Given the description of an element on the screen output the (x, y) to click on. 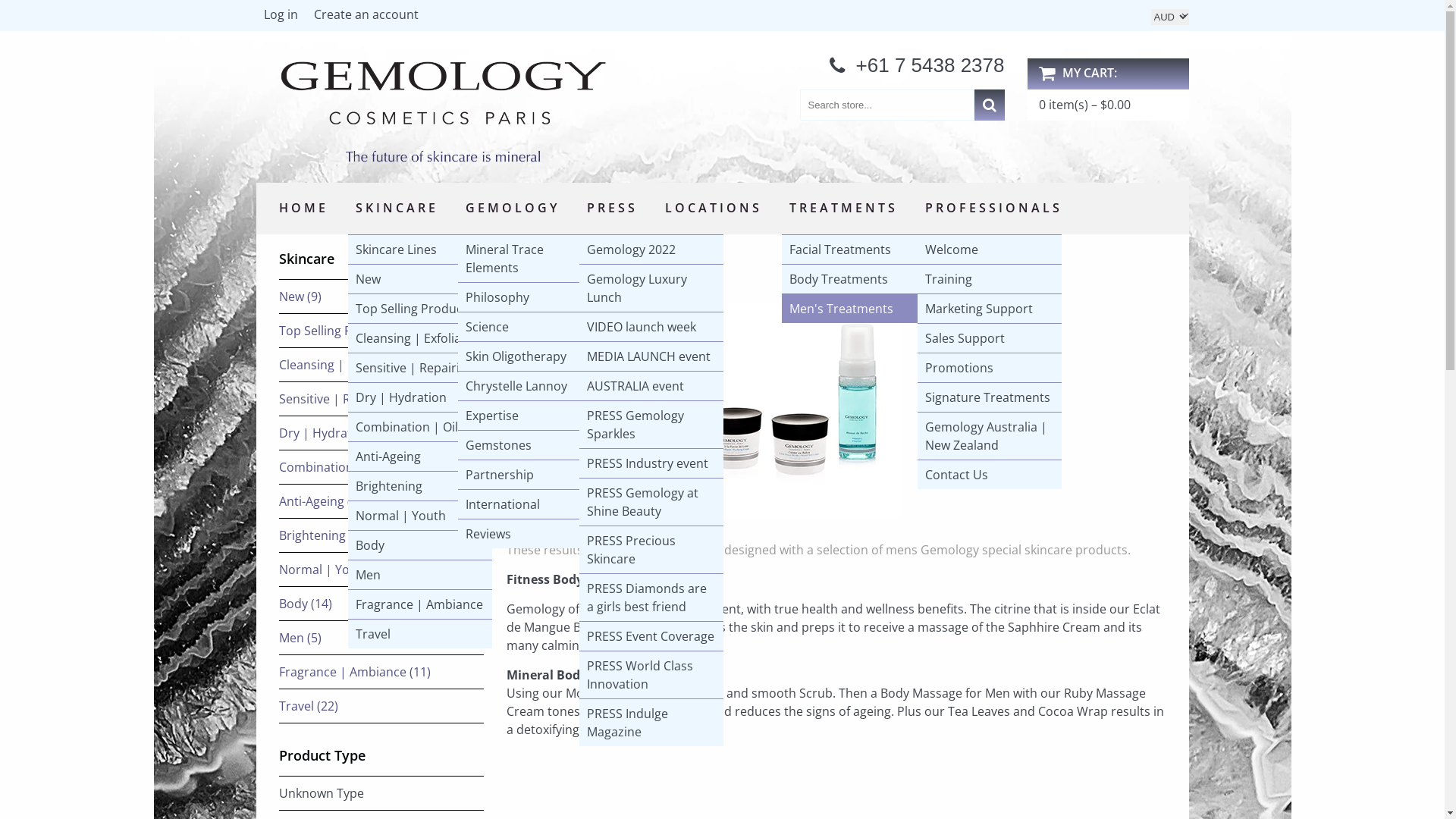
Marketing Support Element type: text (989, 308)
New (9) Element type: text (300, 296)
Top Selling Products Element type: text (419, 308)
Men's Treatments Element type: text (853, 308)
Anti-Ageing Element type: text (419, 456)
Body (14) Element type: text (305, 603)
Dry | Hydration (15) Element type: text (336, 432)
MEDIA LAUNCH event Element type: text (651, 356)
Training Element type: text (989, 278)
PRESS Indulge Magazine Element type: text (651, 722)
Combination | Oily Element type: text (419, 426)
Reviews Element type: text (530, 533)
S K I N C A R E Element type: text (394, 208)
Skin Oligotherapy Element type: text (530, 356)
Sales Support Element type: text (989, 337)
T R E A T M E N T S Element type: text (841, 208)
Signature Treatments Element type: text (989, 396)
Gemstones Element type: text (530, 444)
Expertise Element type: text (530, 415)
Body Treatments Element type: text (853, 278)
PRESS Event Coverage Element type: text (651, 635)
Top Selling Products (17) Element type: text (349, 330)
Welcome Element type: text (989, 249)
Philosophy Element type: text (530, 296)
Brightening Element type: text (419, 485)
AUSTRALIA event Element type: text (651, 385)
Log in Element type: text (280, 17)
Fragrance | Ambiance Element type: text (419, 603)
PRESS Gemology Sparkles Element type: text (651, 424)
Cleansing | Exfoliation (8) Element type: text (351, 364)
Men (5) Element type: text (300, 637)
VIDEO launch week Element type: text (651, 326)
Normal | Youth Element type: text (419, 515)
P R E S S Element type: text (610, 208)
PRESS Diamonds are a girls best friend Element type: text (651, 597)
PRESS World Class Innovation Element type: text (651, 674)
PRESS Precious Skincare Element type: text (651, 549)
L O C A T I O N S Element type: text (710, 208)
Anti-Ageing (13) Element type: text (323, 500)
Travel (22) Element type: text (308, 705)
Cleansing | Exfoliation Element type: text (419, 337)
Create an account Element type: text (366, 17)
Contact Us Element type: text (989, 474)
Mineral Trace Elements Element type: text (530, 258)
Men Element type: text (419, 574)
Sensitive | Repairing Element type: text (419, 367)
Normal | Youth (5) Element type: text (332, 569)
Body Element type: text (419, 544)
Combination | Oily (8) Element type: text (341, 466)
Fragrance | Ambiance (11) Element type: text (354, 671)
PRESS Gemology at Shine Beauty Element type: text (651, 501)
Sensitive | Repairing (5) Element type: text (346, 398)
Dry | Hydration Element type: text (419, 396)
Science Element type: text (530, 326)
Brightening (6) Element type: text (321, 535)
Gemology Luxury Lunch Element type: text (651, 287)
Travel Element type: text (419, 633)
Skincare Lines Element type: text (419, 249)
H O M E Element type: text (301, 208)
Gemology Australia | New Zealand Element type: text (989, 435)
G E M O L O G Y Element type: text (511, 208)
Chrystelle Lannoy Element type: text (530, 385)
Promotions Element type: text (989, 367)
P R O F E S S I O N A L S Element type: text (991, 208)
Facial Treatments Element type: text (853, 249)
International Element type: text (530, 503)
PRESS Industry event Element type: text (651, 462)
Gemology 2022 Element type: text (651, 249)
Partnership Element type: text (530, 474)
New Element type: text (419, 278)
